Given the description of an element on the screen output the (x, y) to click on. 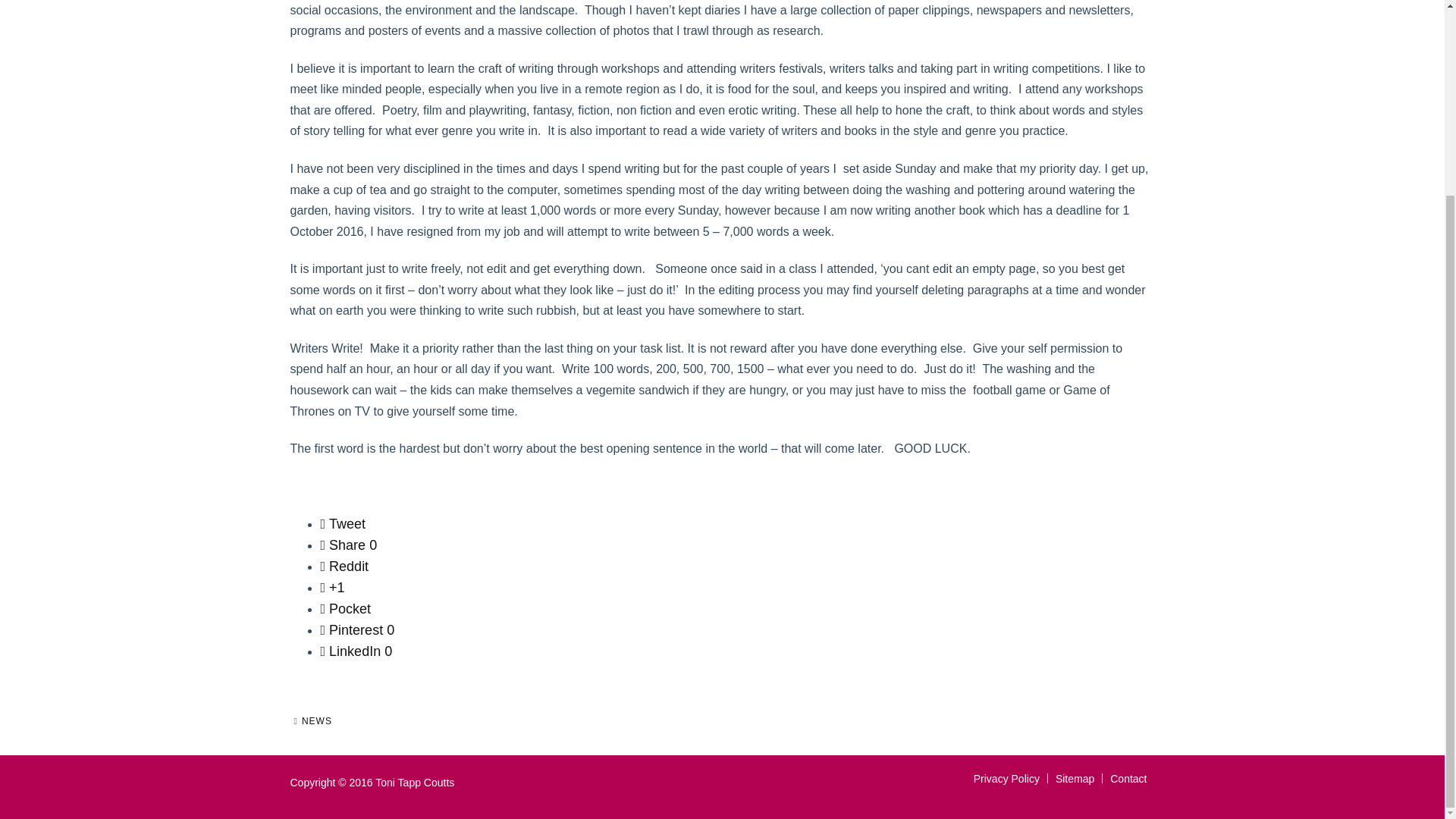
Reddit (344, 566)
Save to read later on Pocket (345, 608)
LinkedIn 0 (355, 651)
Share 0 (348, 544)
Privacy Policy (1006, 778)
Share on Facebook (348, 544)
Share on Pinterest (357, 630)
Contact (1128, 778)
NEWS (316, 720)
Pinterest 0 (357, 630)
